Given the description of an element on the screen output the (x, y) to click on. 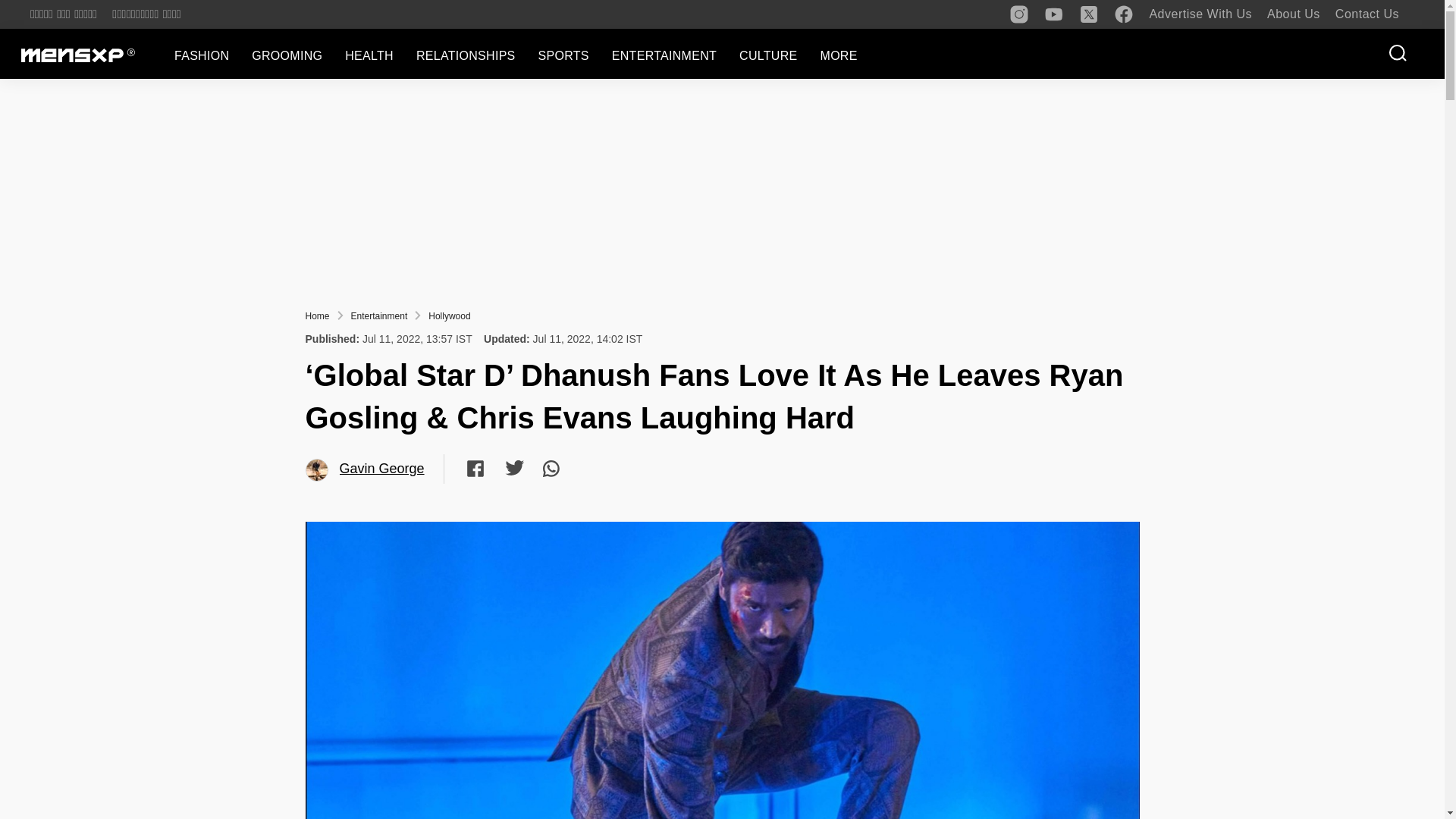
Entertainment (378, 316)
Hollywood (449, 316)
Gavin George (317, 470)
Advertise With Us (1200, 13)
Home (316, 316)
About Us (1293, 13)
Contact Us  (1367, 13)
Contact Us (1367, 13)
About Us (1293, 13)
Advertise With Us (1200, 13)
